Given the description of an element on the screen output the (x, y) to click on. 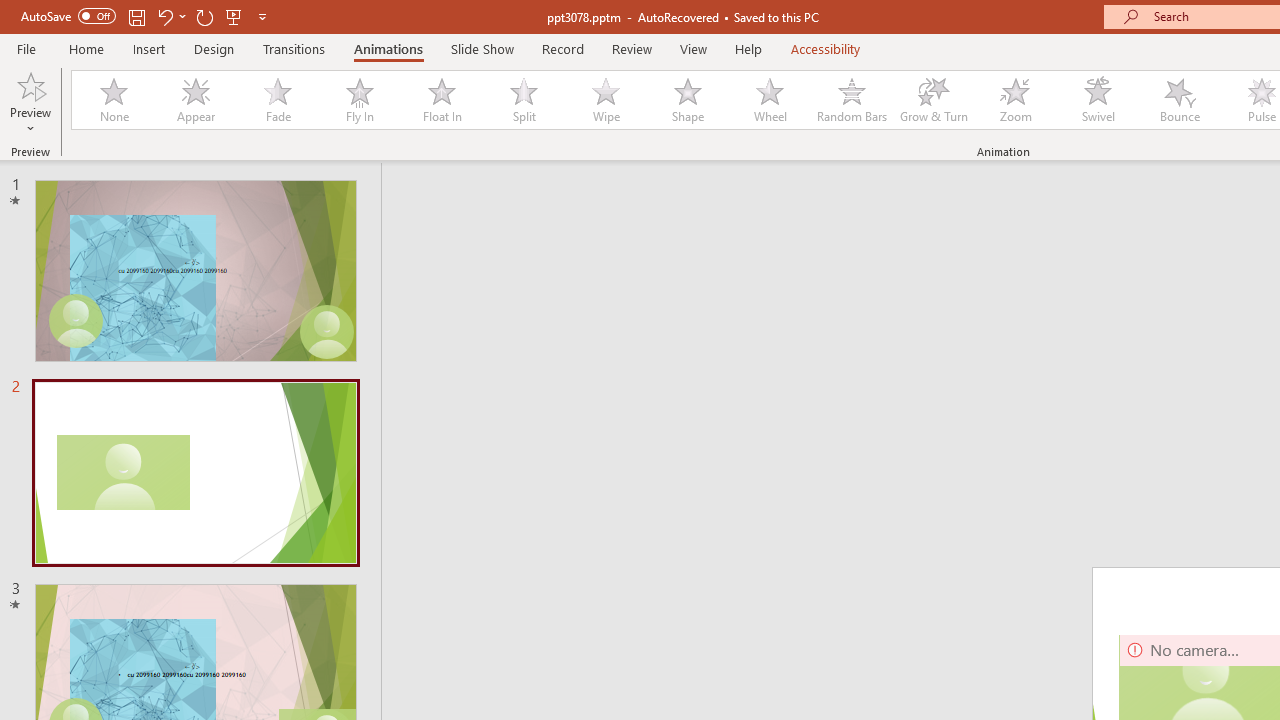
Bounce (1180, 100)
Wheel (770, 100)
Swivel (1098, 100)
